Given the description of an element on the screen output the (x, y) to click on. 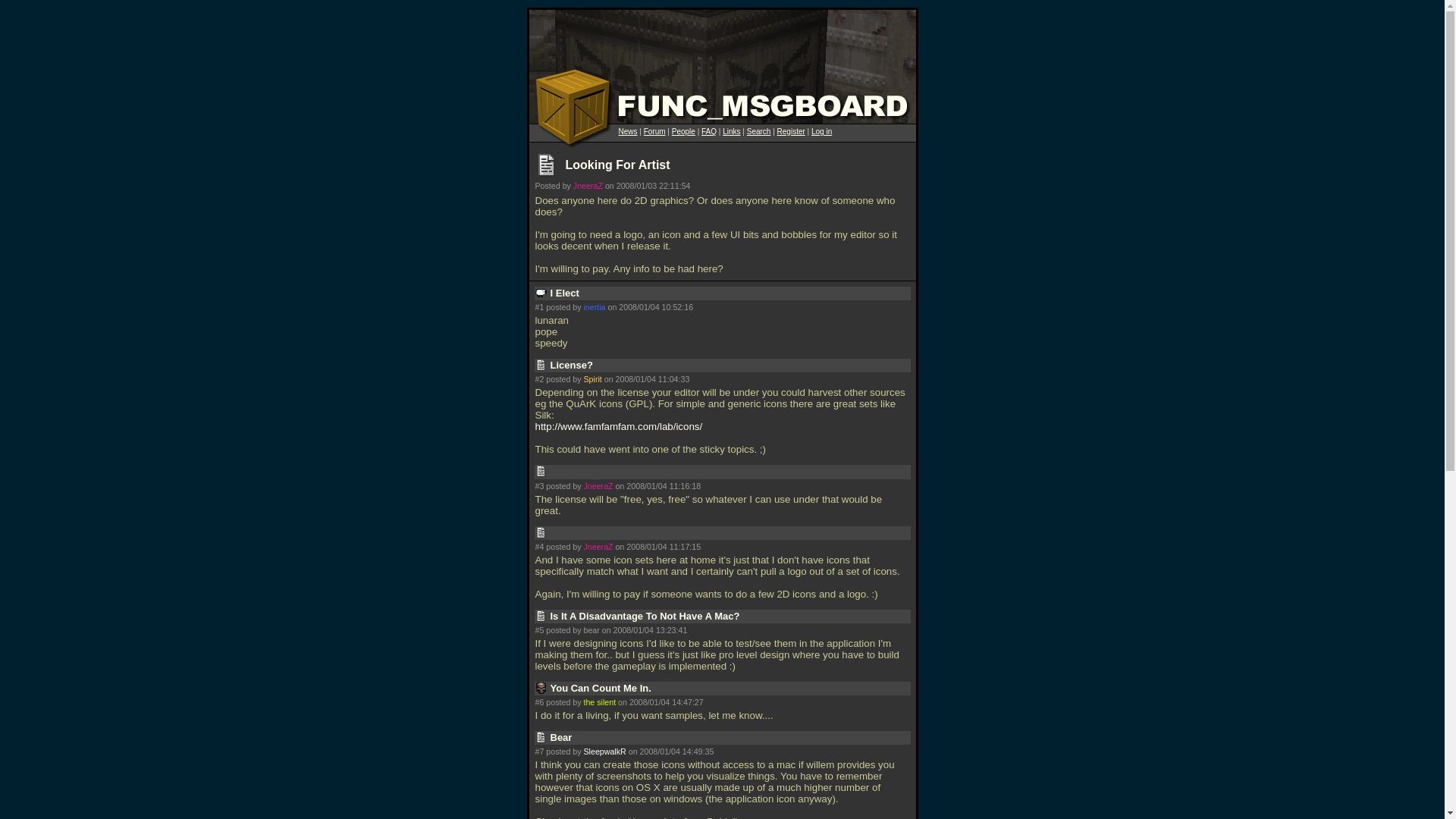
FAQ (708, 131)
the silent (599, 701)
Search (758, 131)
JneeraZ (587, 185)
Log in (820, 131)
Looking For Artist (617, 164)
News (627, 131)
Links (730, 131)
Spirit (592, 379)
Forum (654, 131)
inertia (594, 307)
JneeraZ (597, 546)
JneeraZ (597, 485)
SleepwalkR (604, 750)
People (683, 131)
